Given the description of an element on the screen output the (x, y) to click on. 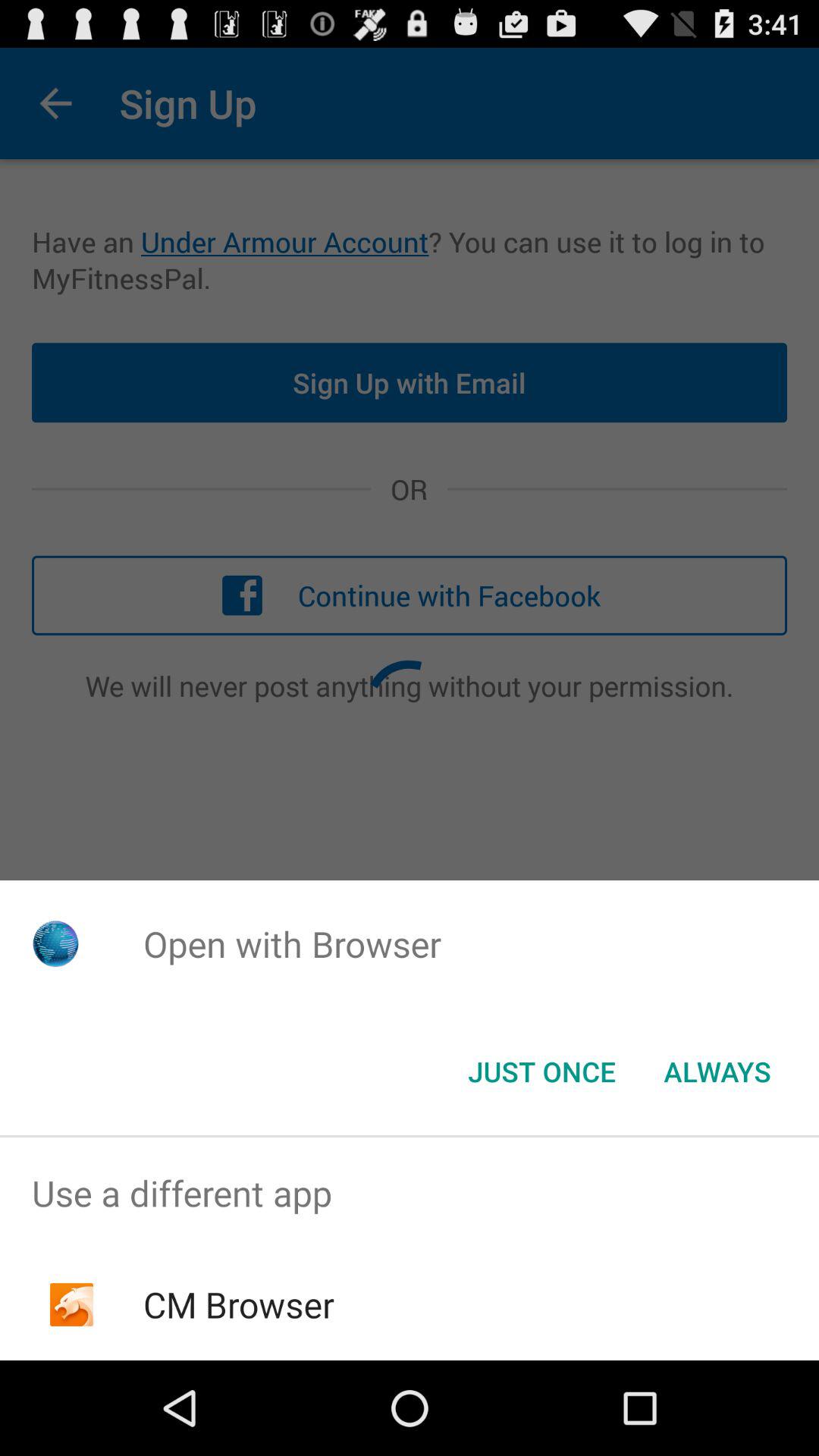
scroll until the use a different (409, 1192)
